Given the description of an element on the screen output the (x, y) to click on. 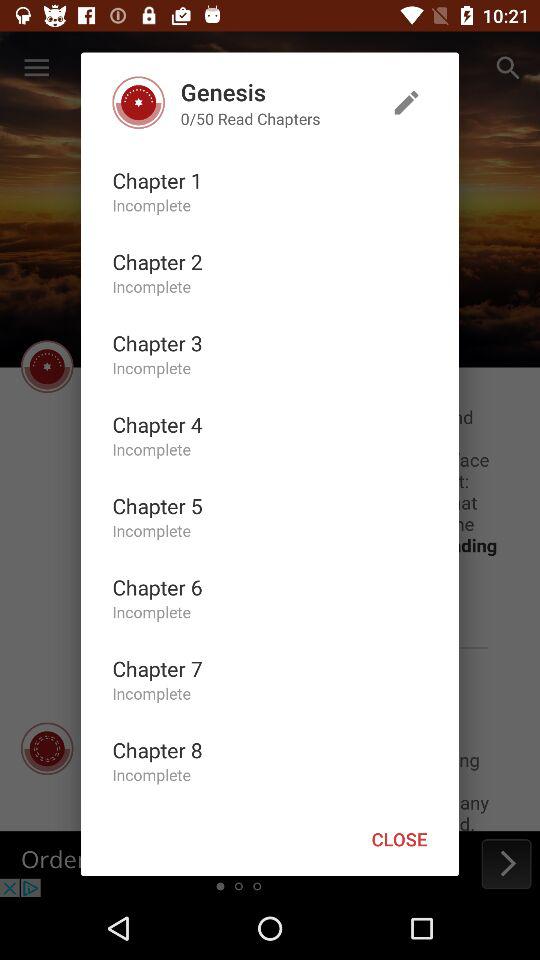
turn off the chapter 7 icon (157, 668)
